Given the description of an element on the screen output the (x, y) to click on. 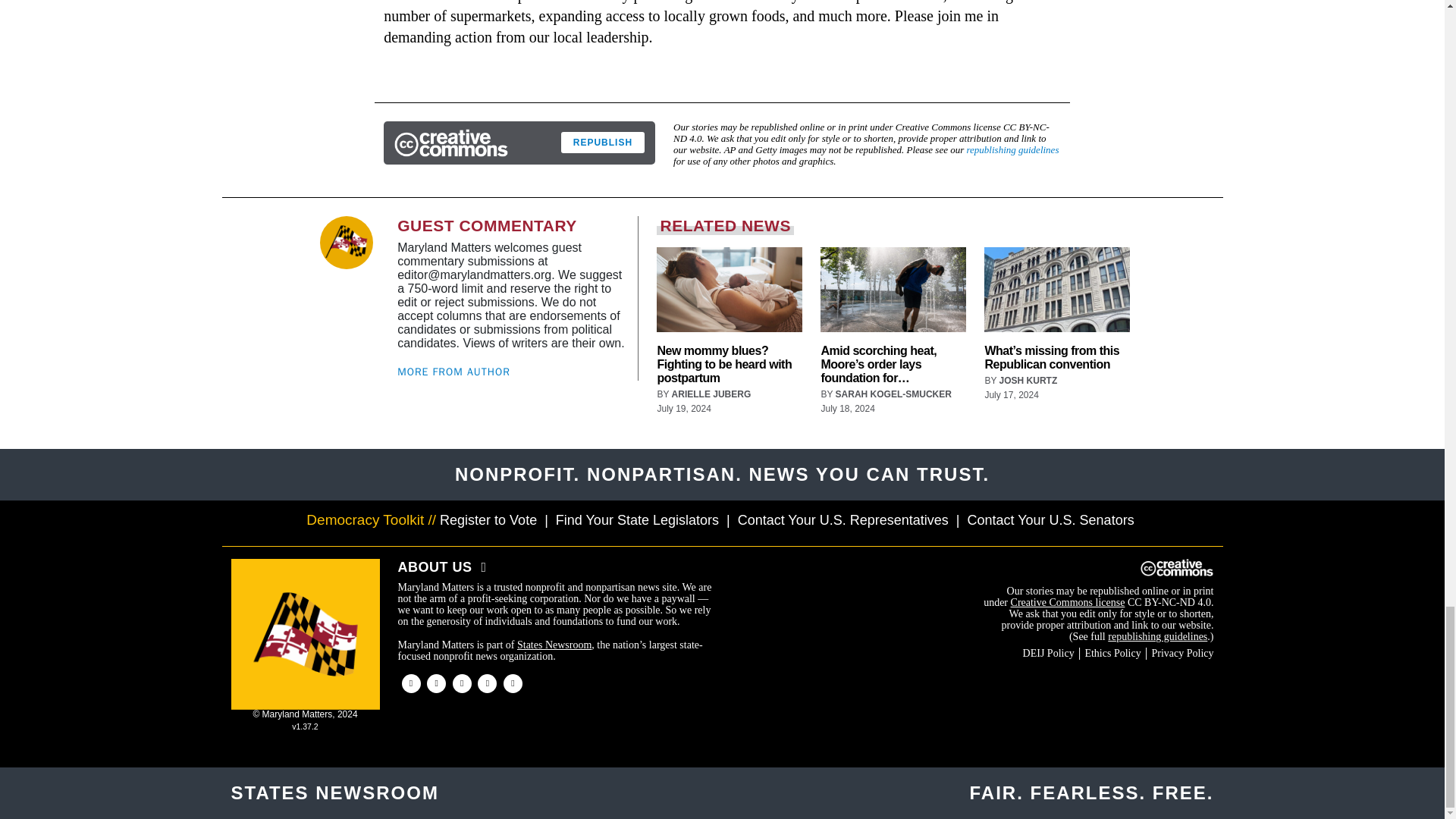
Posts by Sarah Kogel-Smucker (893, 394)
Posts by Arielle Juberg (711, 394)
Posts by Josh Kurtz (1028, 380)
